Given the description of an element on the screen output the (x, y) to click on. 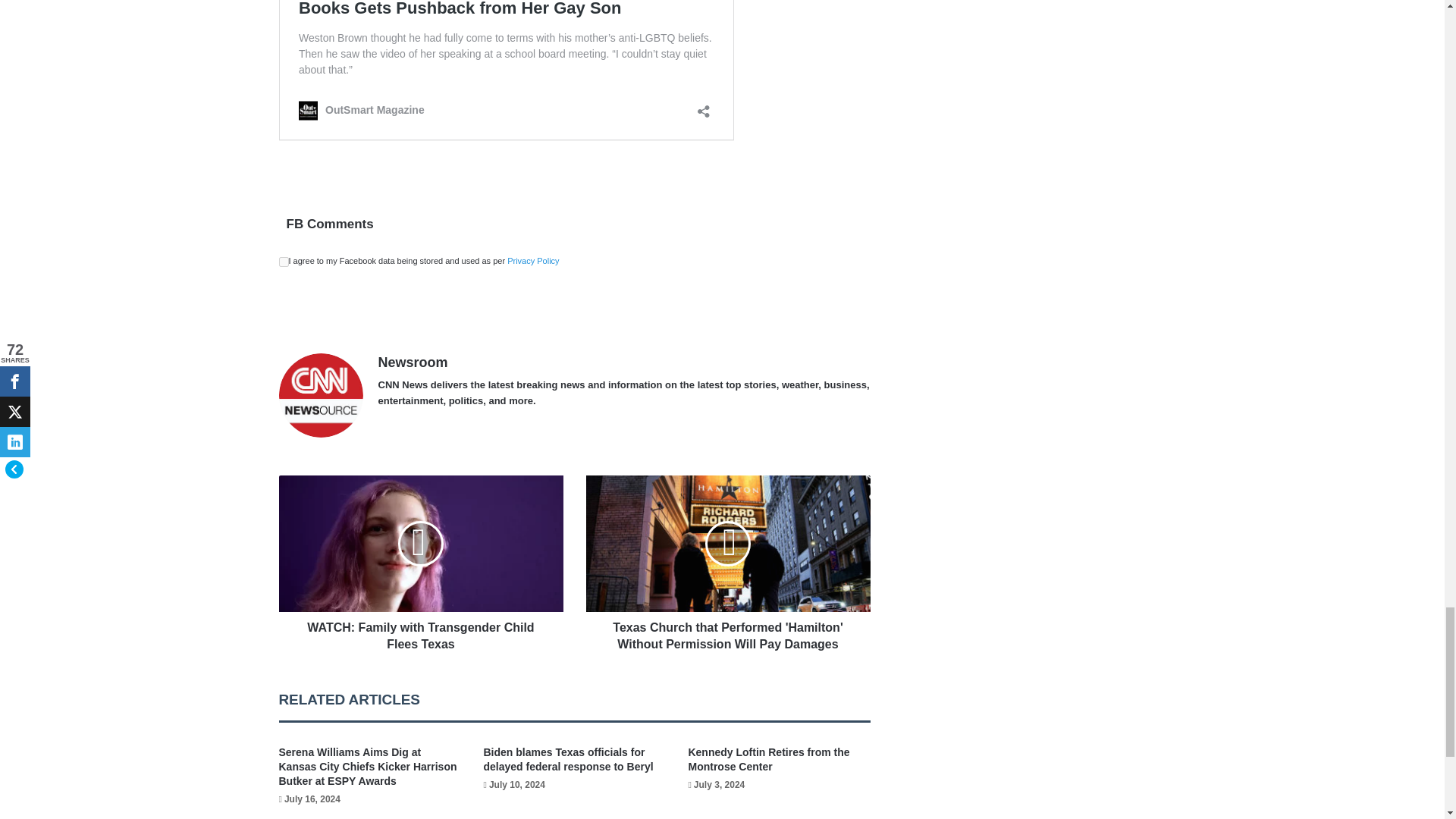
1 (283, 261)
